Given the description of an element on the screen output the (x, y) to click on. 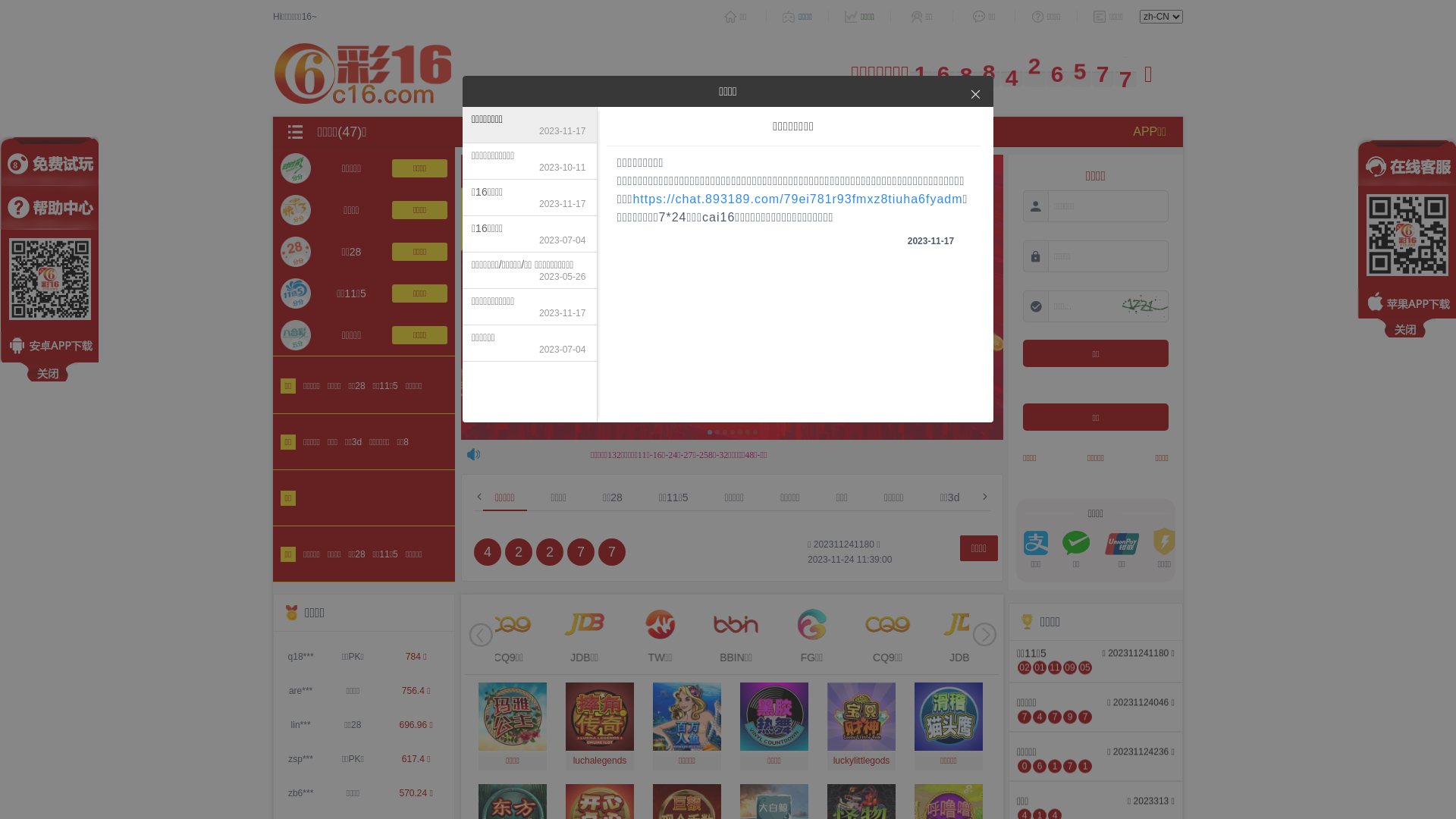
https://chat.893189.com/79ei781r93fmxz8tiuha6fyadm Element type: text (797, 198)
